Given the description of an element on the screen output the (x, y) to click on. 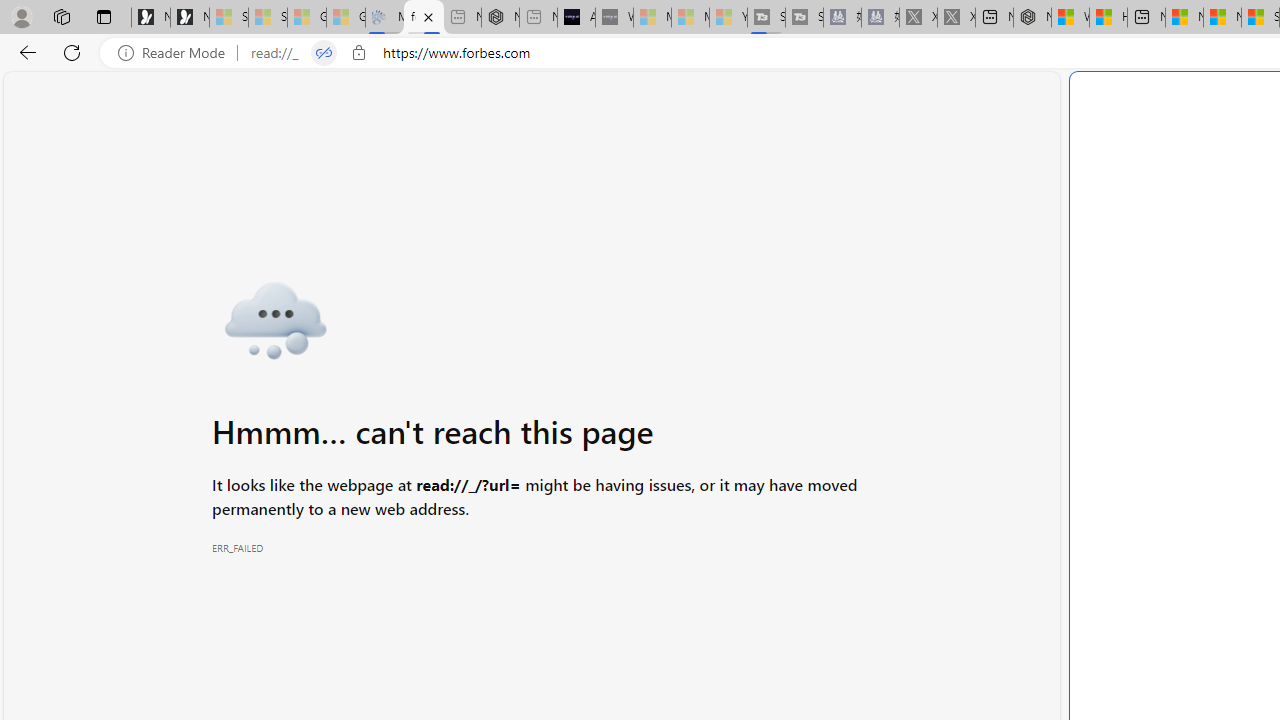
What's the best AI voice generator? - voice.ai - Sleeping (614, 17)
Nordace - My Account (1031, 17)
Streaming Coverage | T3 - Sleeping (765, 17)
AI Voice Changer for PC and Mac - Voice.ai (576, 17)
Newsletter Sign Up (189, 17)
Wildlife - MSN (1070, 17)
Microsoft Start - Sleeping (690, 17)
